Given the description of an element on the screen output the (x, y) to click on. 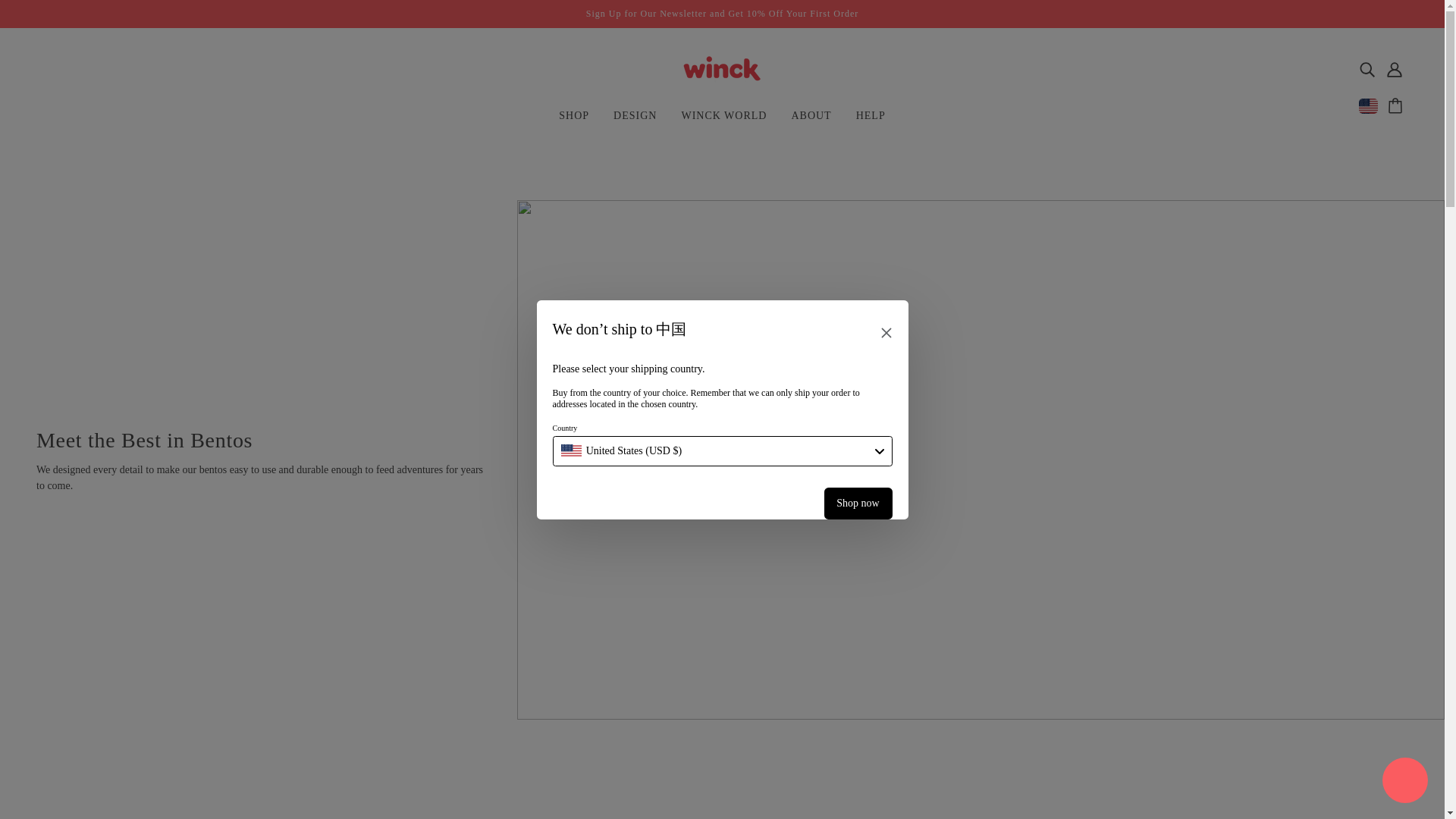
SHOP (574, 121)
HELP (871, 121)
Winck (722, 81)
Shop now (857, 502)
WINCK WORLD (723, 121)
ABOUT (810, 121)
DESIGN (634, 121)
Shopify online store chat (1404, 781)
